Given the description of an element on the screen output the (x, y) to click on. 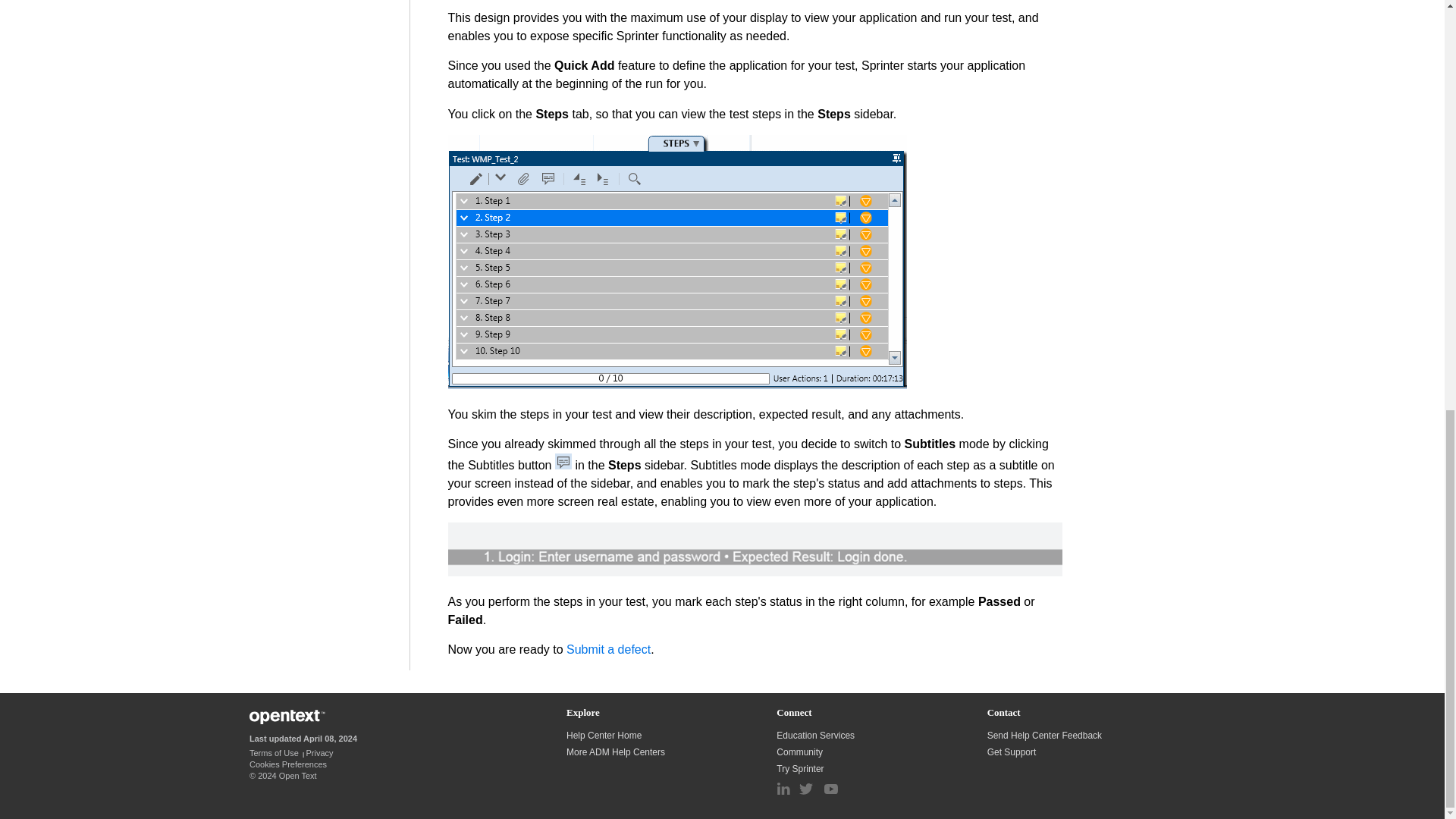
Education Services (816, 735)
Community (800, 751)
Submit a defect (608, 649)
Try Sprinter (800, 768)
Help Center Home (604, 735)
More ADM Help Centers (616, 751)
